Given the description of an element on the screen output the (x, y) to click on. 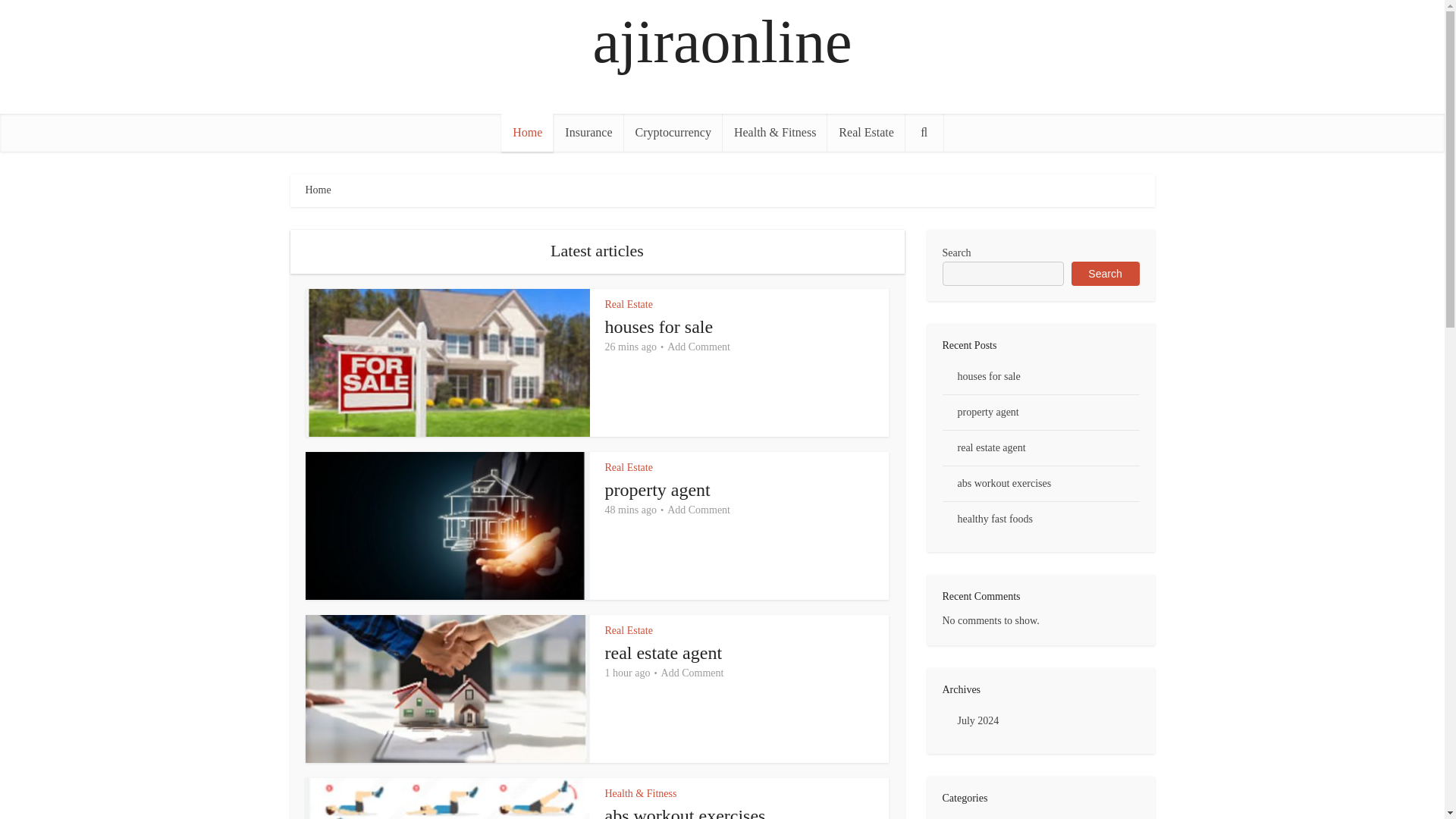
property agent (657, 489)
houses for sale (659, 326)
abs workout exercises (685, 812)
Add Comment (698, 346)
real estate agent (663, 652)
Real Estate (628, 304)
Home (526, 132)
houses for sale (659, 326)
Real Estate (628, 630)
Real Estate (865, 132)
Add Comment (692, 673)
abs workout exercises (685, 812)
Add Comment (698, 509)
property agent (657, 489)
Cryptocurrency (673, 132)
